Given the description of an element on the screen output the (x, y) to click on. 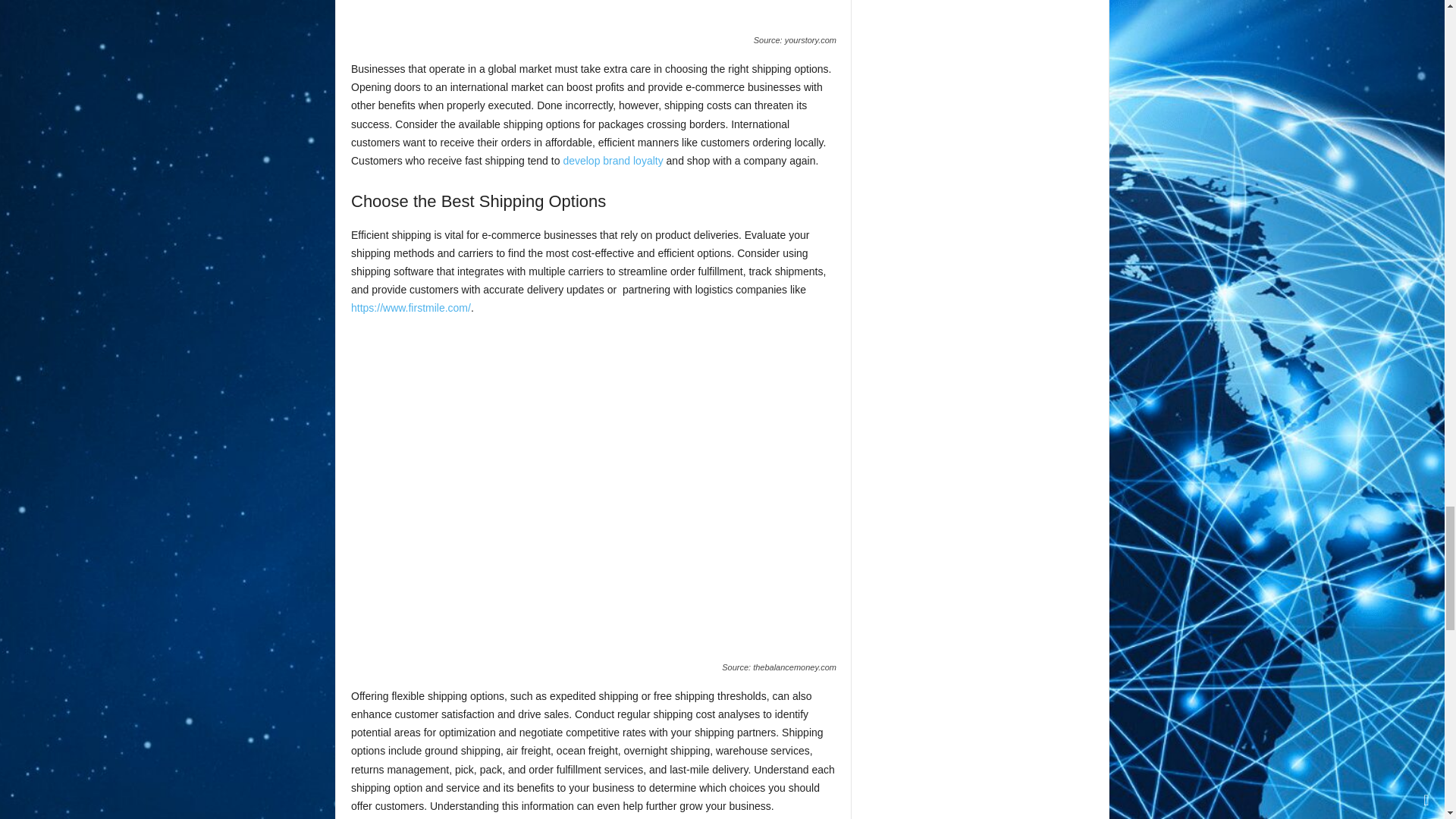
develop brand loyalty (612, 160)
